Given the description of an element on the screen output the (x, y) to click on. 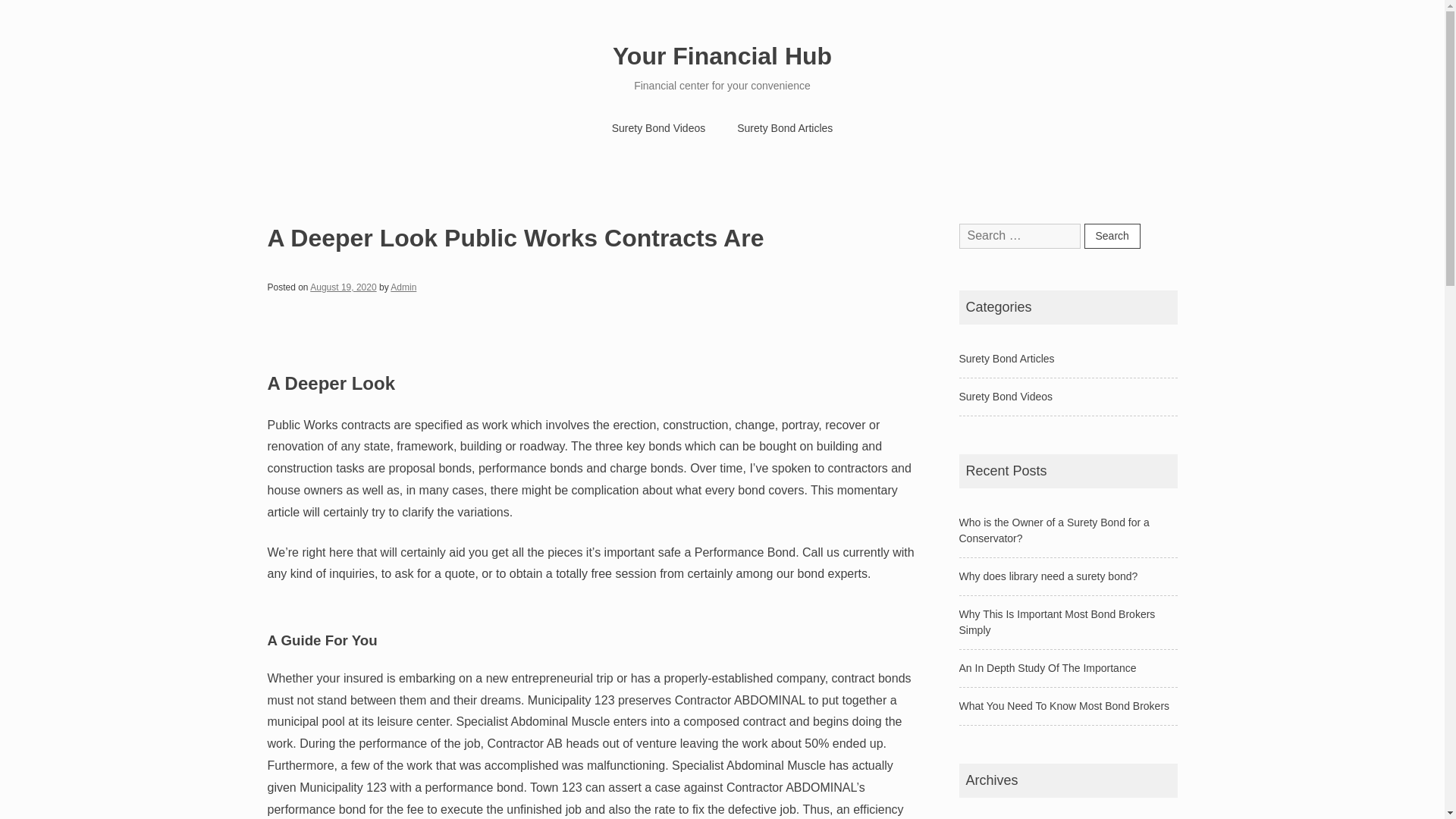
Why This Is Important Most Bond Brokers Simply (1056, 622)
Surety Bond Articles (1006, 358)
Search (1112, 235)
Surety Bond Articles (784, 128)
An In Depth Study Of The Importance (1046, 667)
Who is the Owner of a Surety Bond for a Conservator? (1053, 530)
Surety Bond Videos (1005, 396)
Why does library need a surety bond? (1047, 576)
Surety Bond Videos (658, 128)
Admin (403, 286)
August 19, 2020 (342, 286)
Search (1112, 235)
Search (1112, 235)
Your Financial Hub (721, 55)
What You Need To Know Most Bond Brokers (1063, 705)
